Given the description of an element on the screen output the (x, y) to click on. 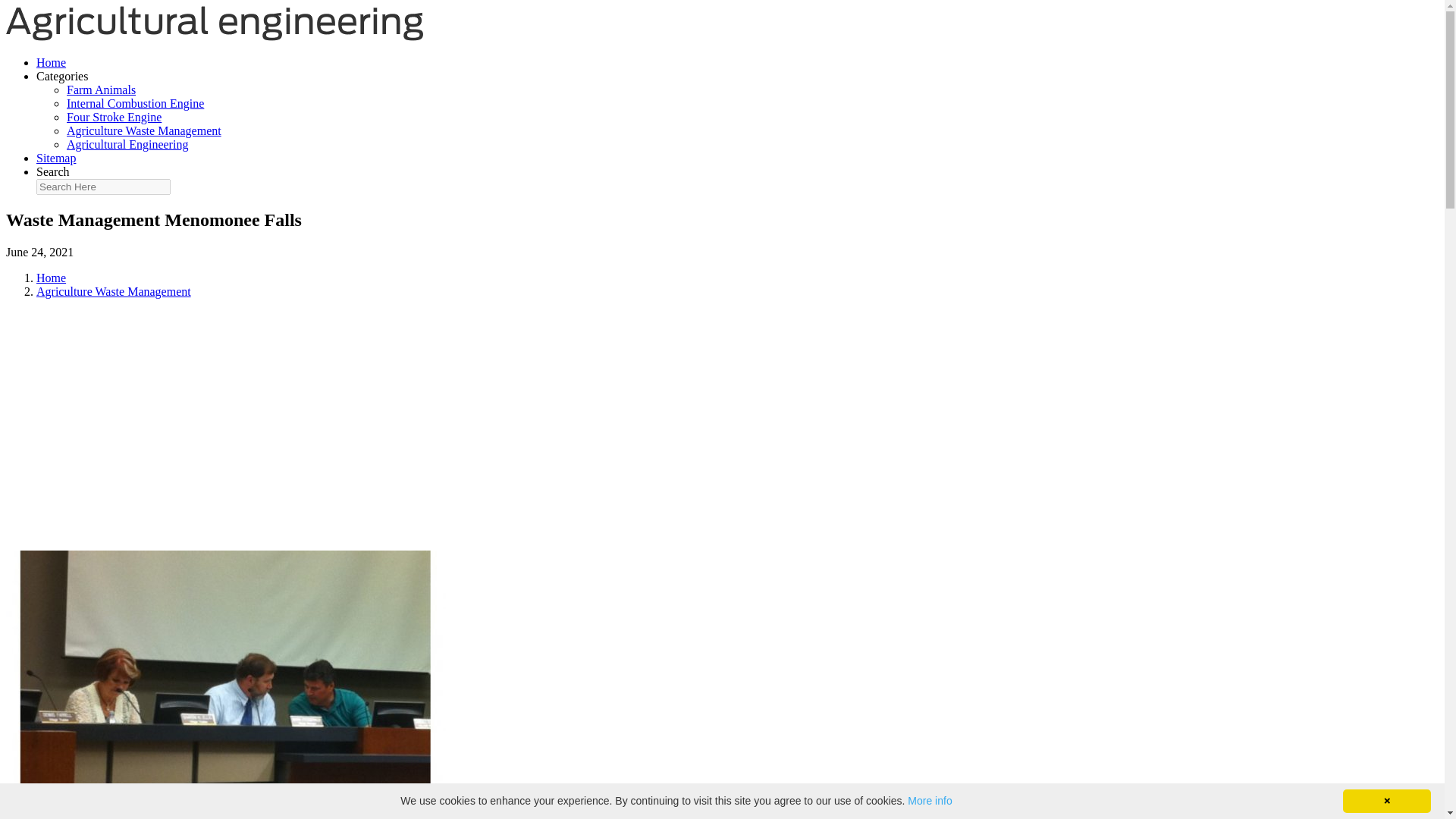
Agricultural Engineering (126, 144)
Search (52, 171)
Sitemap (55, 157)
Home (50, 277)
Agriculture Waste Management (113, 291)
Agriculture Waste Management (143, 130)
Four Stroke Engine (113, 116)
Internal Combustion Engine (134, 103)
Farm Animals (100, 89)
Agricultural engineering (214, 36)
Categories (61, 75)
Home (50, 62)
